Given the description of an element on the screen output the (x, y) to click on. 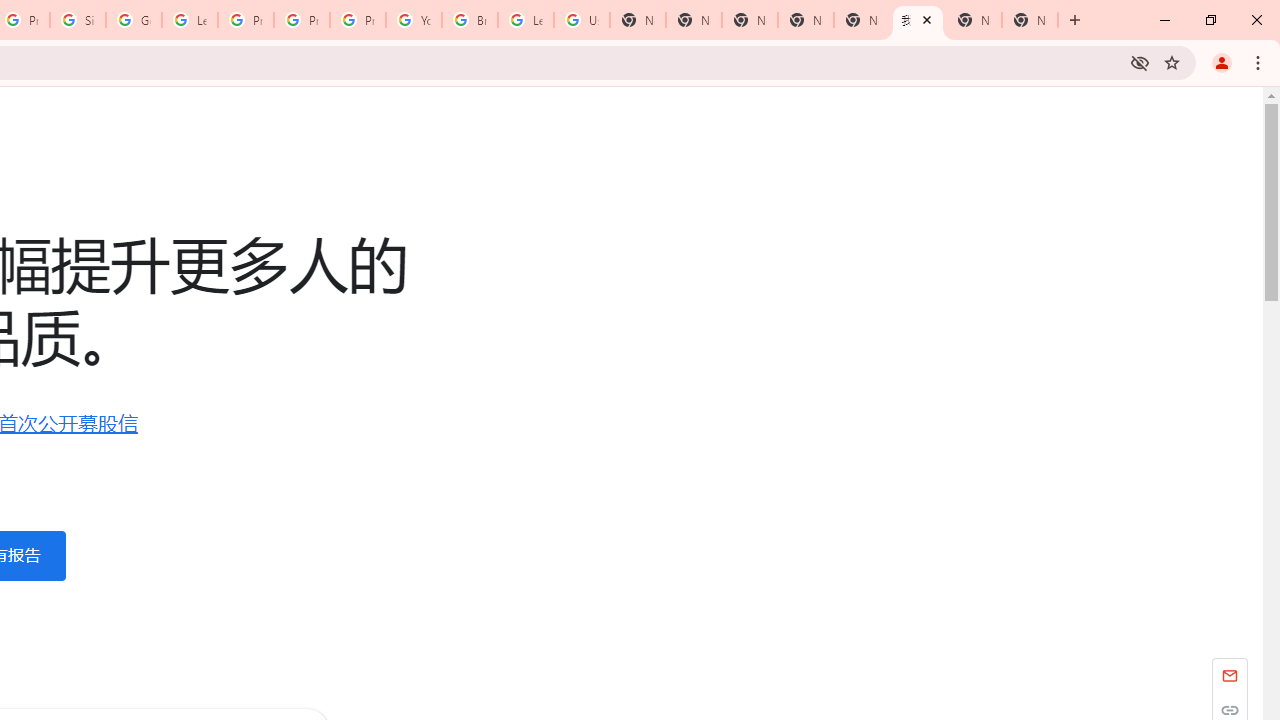
Privacy Help Center - Policies Help (245, 20)
YouTube (413, 20)
New Tab (749, 20)
